Given the description of an element on the screen output the (x, y) to click on. 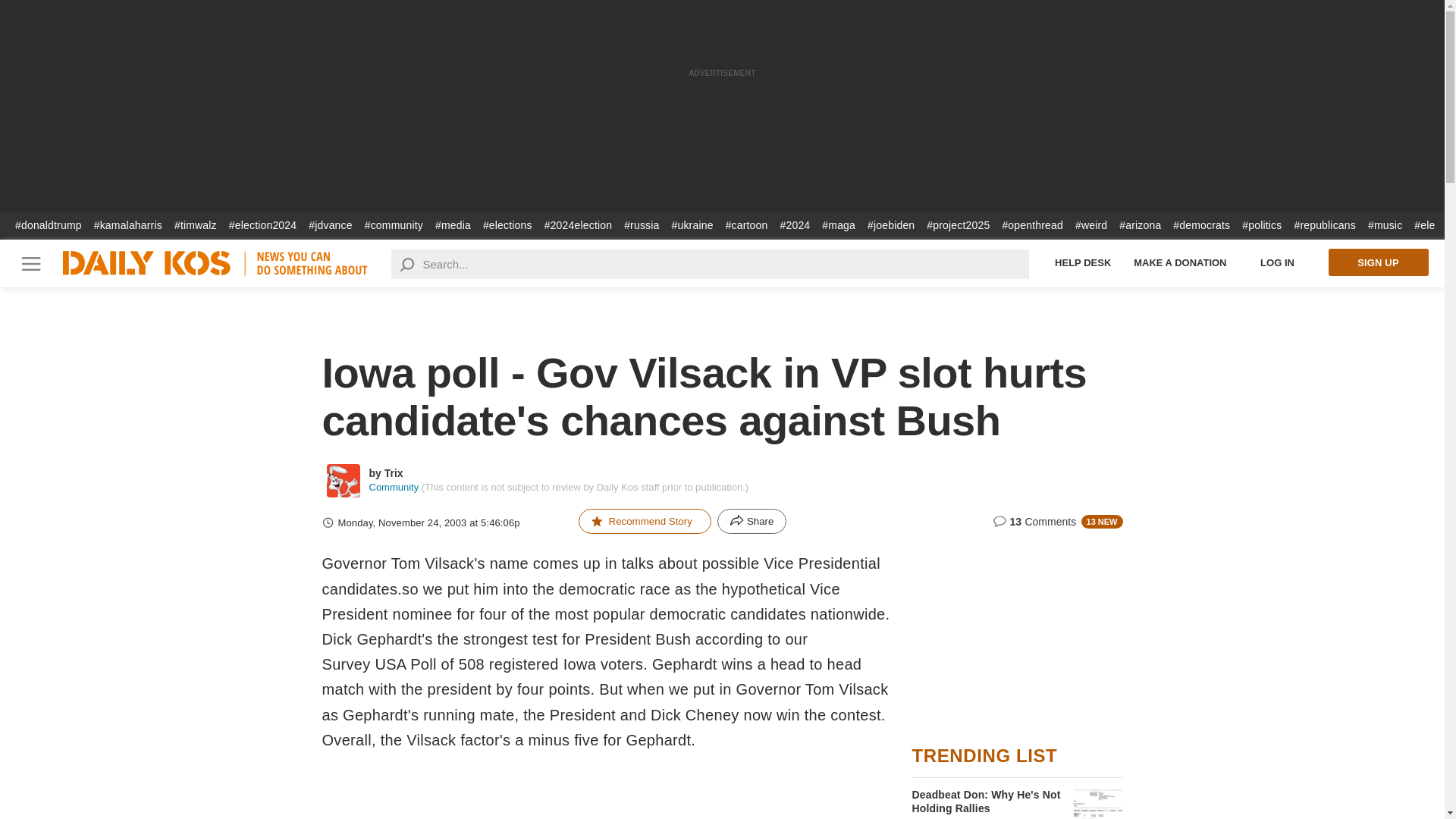
MAKE A DONATION (1179, 262)
Help Desk (1082, 262)
Make a Donation (1179, 262)
